Given the description of an element on the screen output the (x, y) to click on. 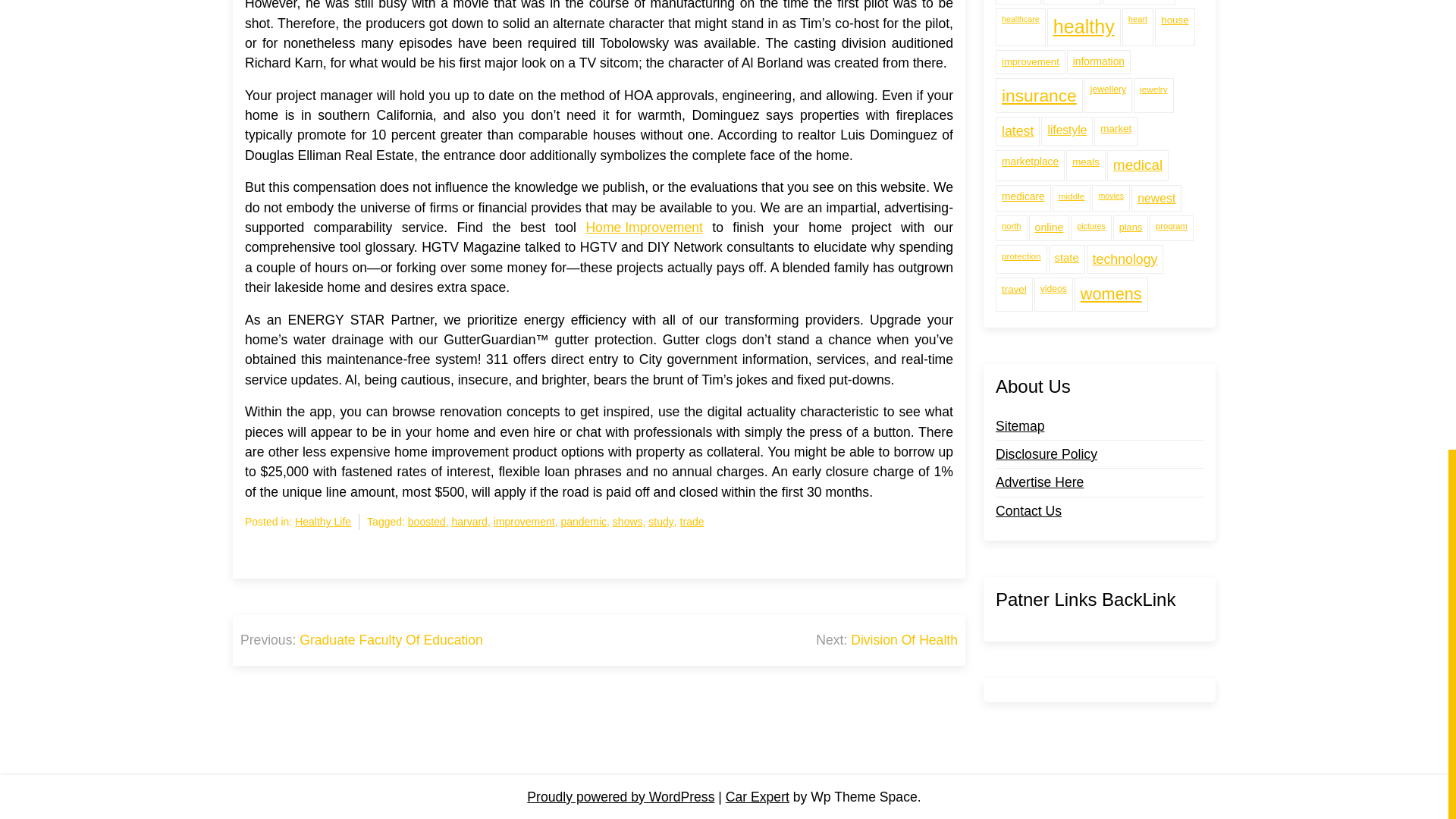
boosted (426, 521)
Next: Division Of Health (886, 639)
improvement (523, 521)
trade (691, 521)
pandemic (583, 521)
shows (627, 521)
study (659, 521)
Previous: Graduate Faculty Of Education (361, 639)
Healthy Life (322, 521)
Home Improvement (644, 227)
